Given the description of an element on the screen output the (x, y) to click on. 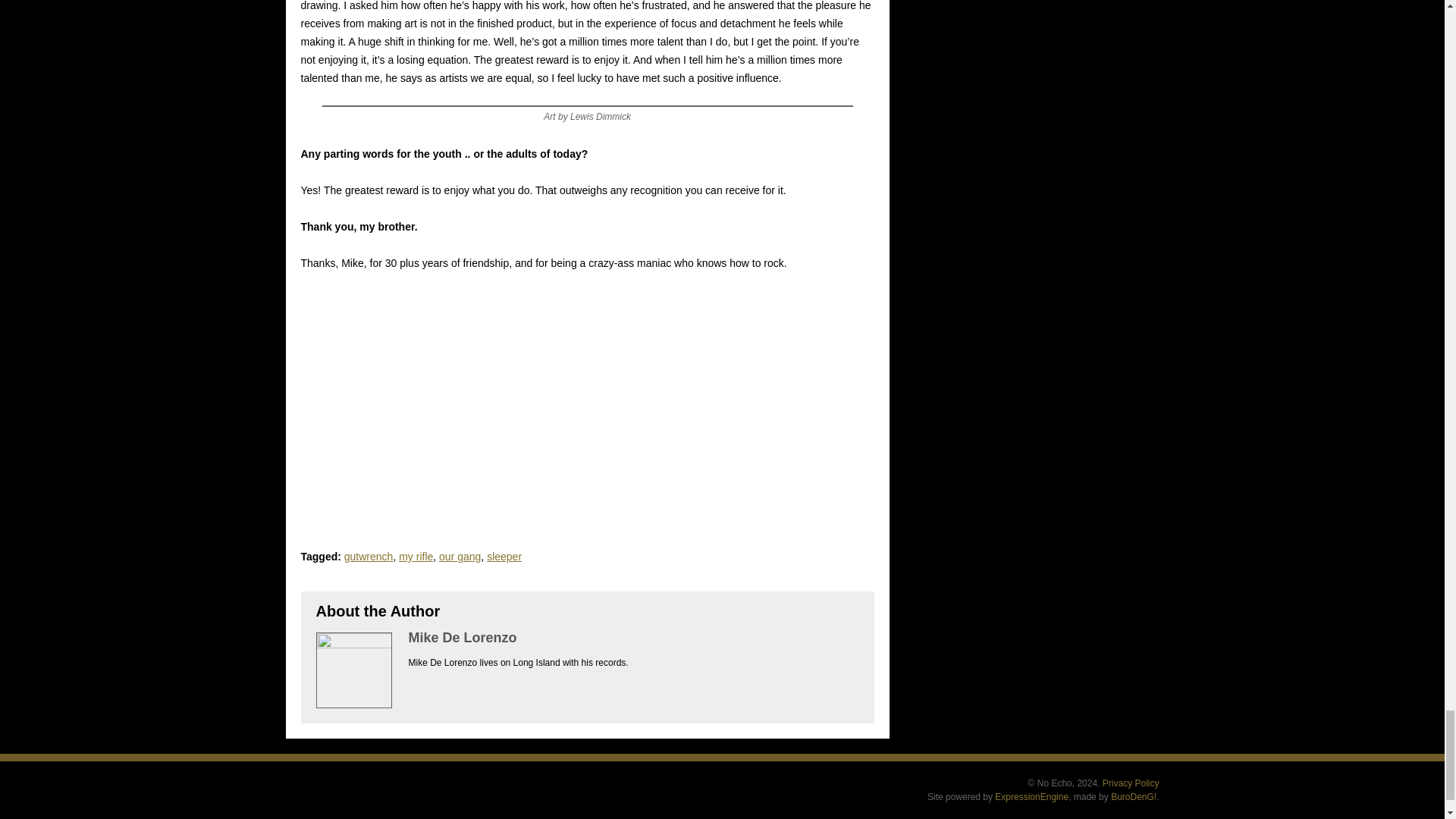
our gang (459, 556)
sleeper (503, 556)
my rifle (415, 556)
Privacy Policy (1130, 783)
gutwrench (368, 556)
ExpressionEngine (1031, 796)
